Given the description of an element on the screen output the (x, y) to click on. 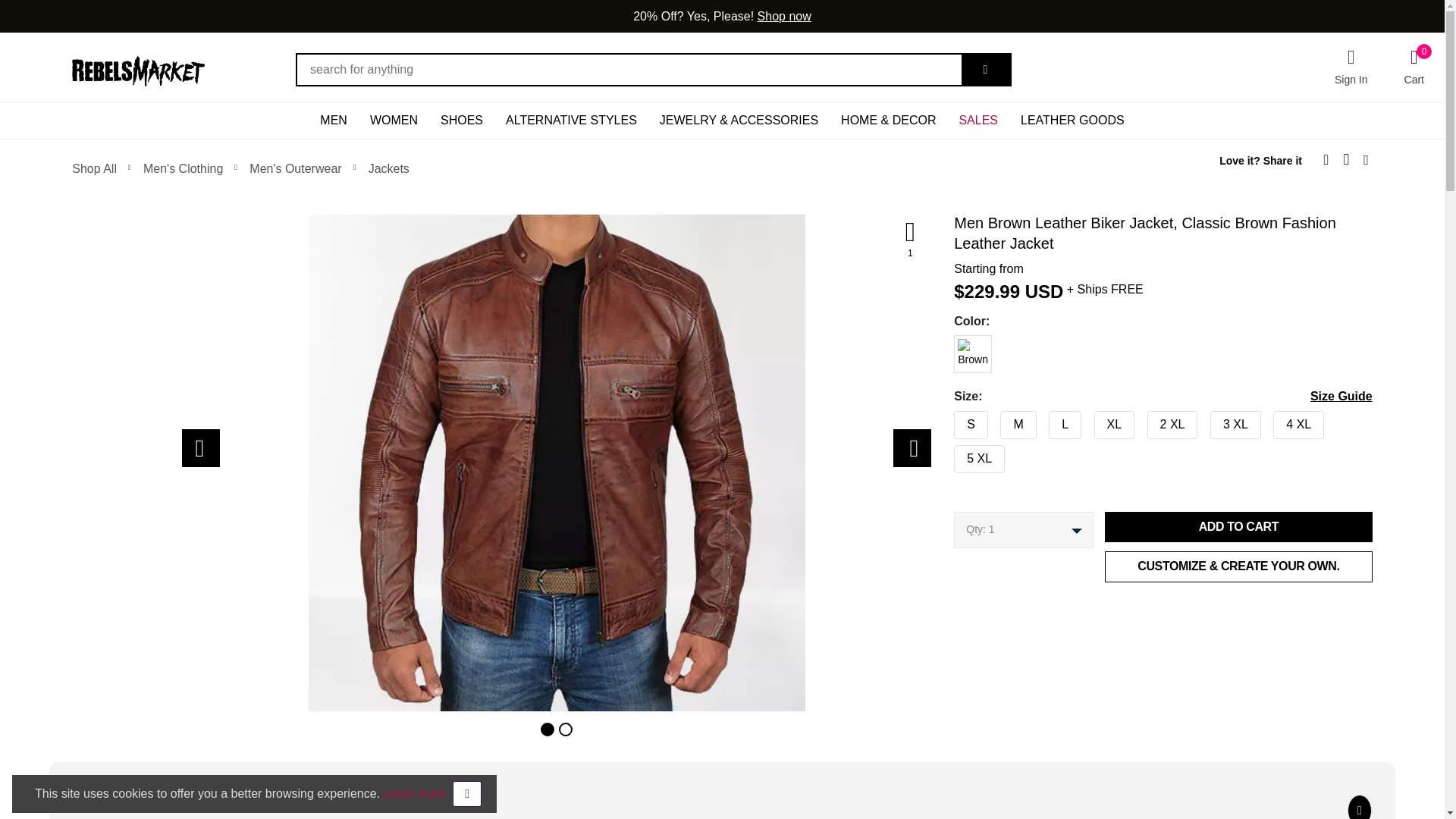
USD (1044, 291)
S (949, 421)
5 XL (949, 455)
M (949, 421)
Sign In (1351, 66)
4 XL (949, 421)
Brown (949, 345)
MEN (333, 119)
L (949, 421)
WOMEN (393, 119)
XL (949, 421)
3 XL (949, 421)
229.99 (991, 291)
2 XL (949, 421)
